Given the description of an element on the screen output the (x, y) to click on. 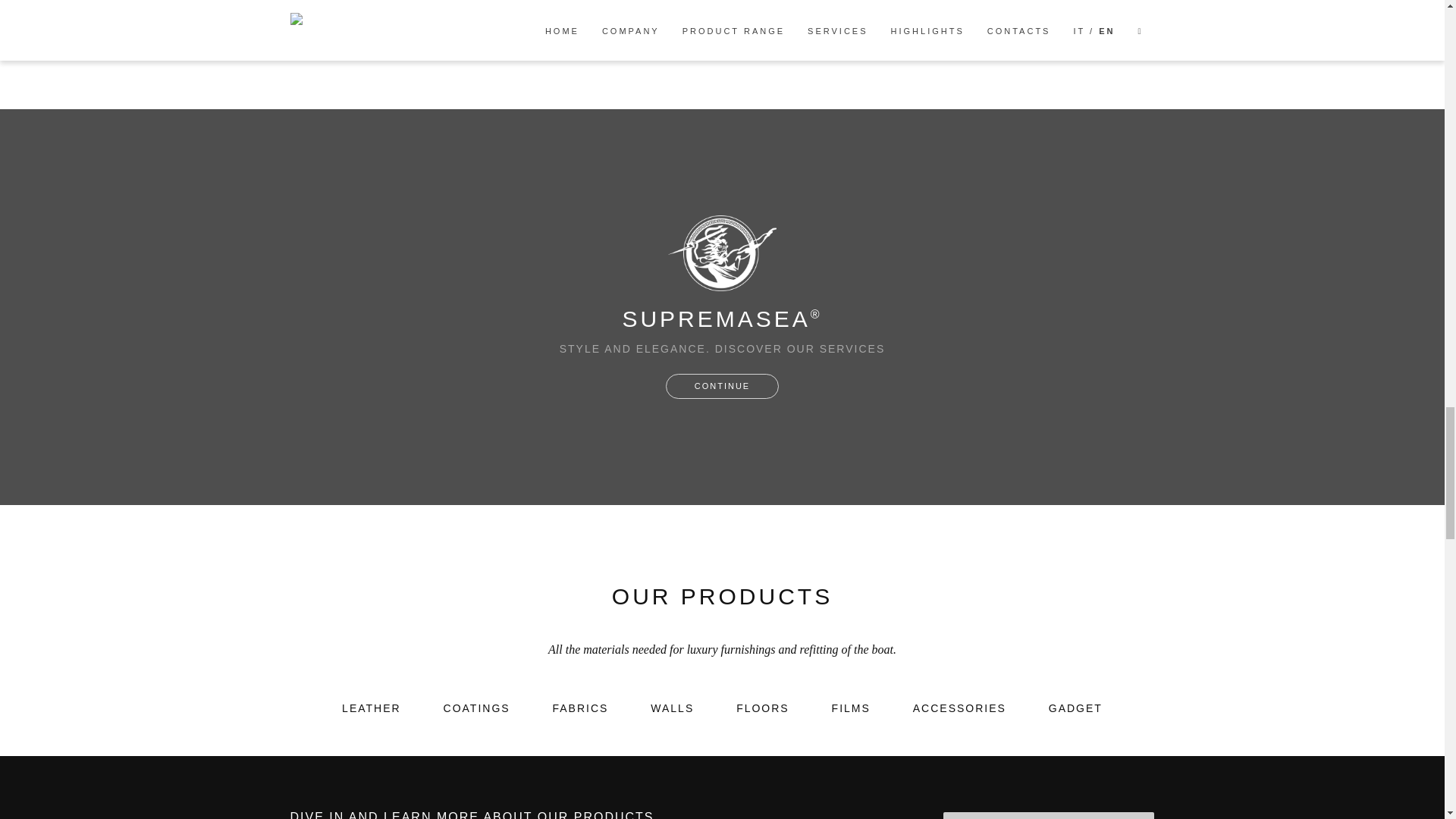
FLOORS (762, 707)
COATINGS (477, 707)
LEATHER (371, 707)
WALLS (672, 707)
ACCESSORIES (959, 707)
FILMS (850, 707)
DOWNLOAD THE CATALOGUE (1048, 815)
GADGET (1075, 707)
CONTINUE (721, 386)
FABRICS (579, 707)
